Given the description of an element on the screen output the (x, y) to click on. 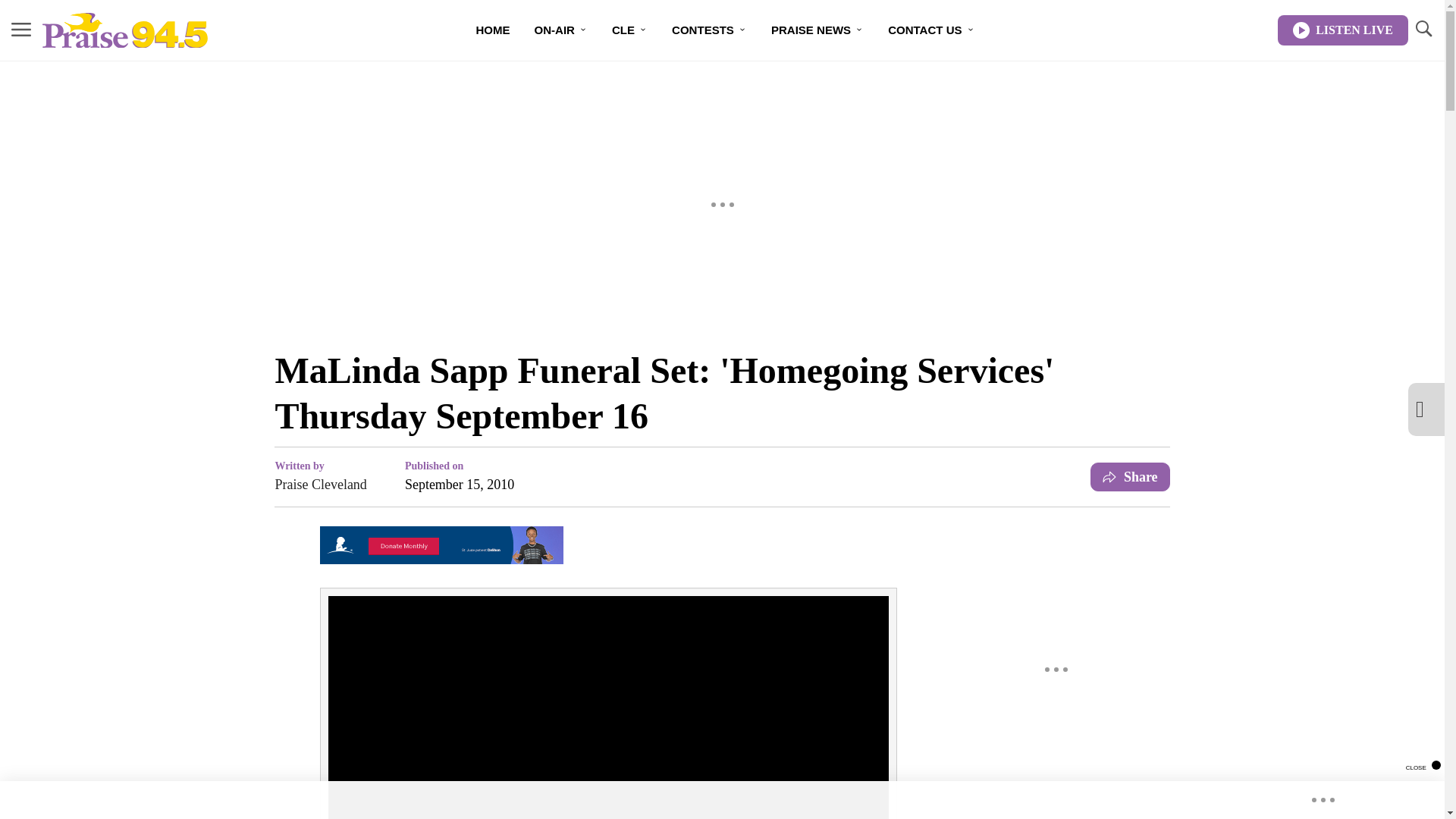
CONTACT US (931, 30)
TOGGLE SEARCH (1422, 30)
CONTESTS (708, 30)
LISTEN LIVE (1342, 30)
Share (1130, 476)
TOGGLE SEARCH (1422, 28)
ON-AIR (560, 30)
St Jude (441, 559)
MENU (20, 29)
CLE (629, 30)
